Given the description of an element on the screen output the (x, y) to click on. 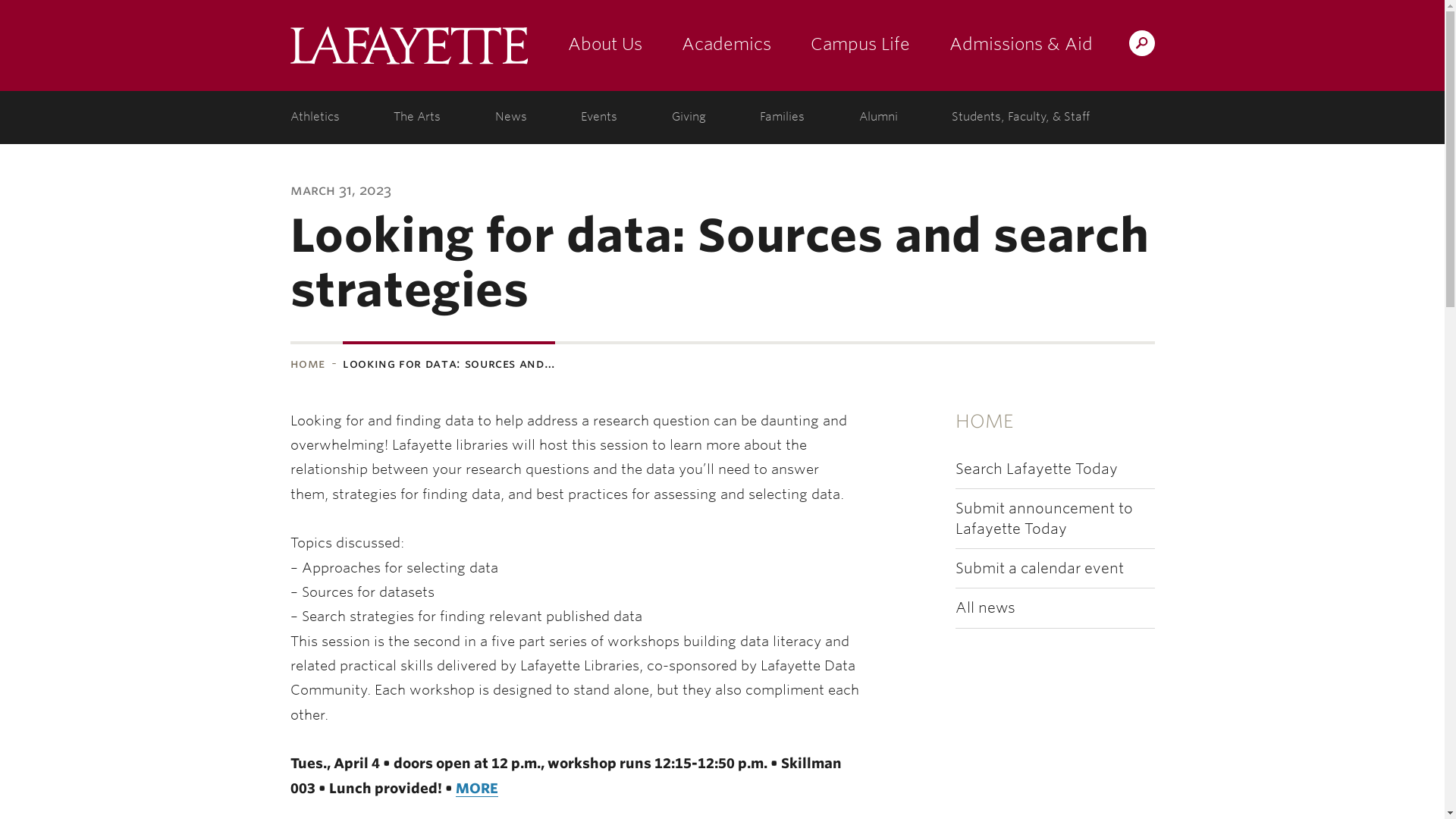
Lafayette College (408, 45)
About Us (603, 45)
Search Lafayette.edu (1141, 43)
Search (842, 42)
Campus Life (859, 45)
Academics (725, 45)
